Given the description of an element on the screen output the (x, y) to click on. 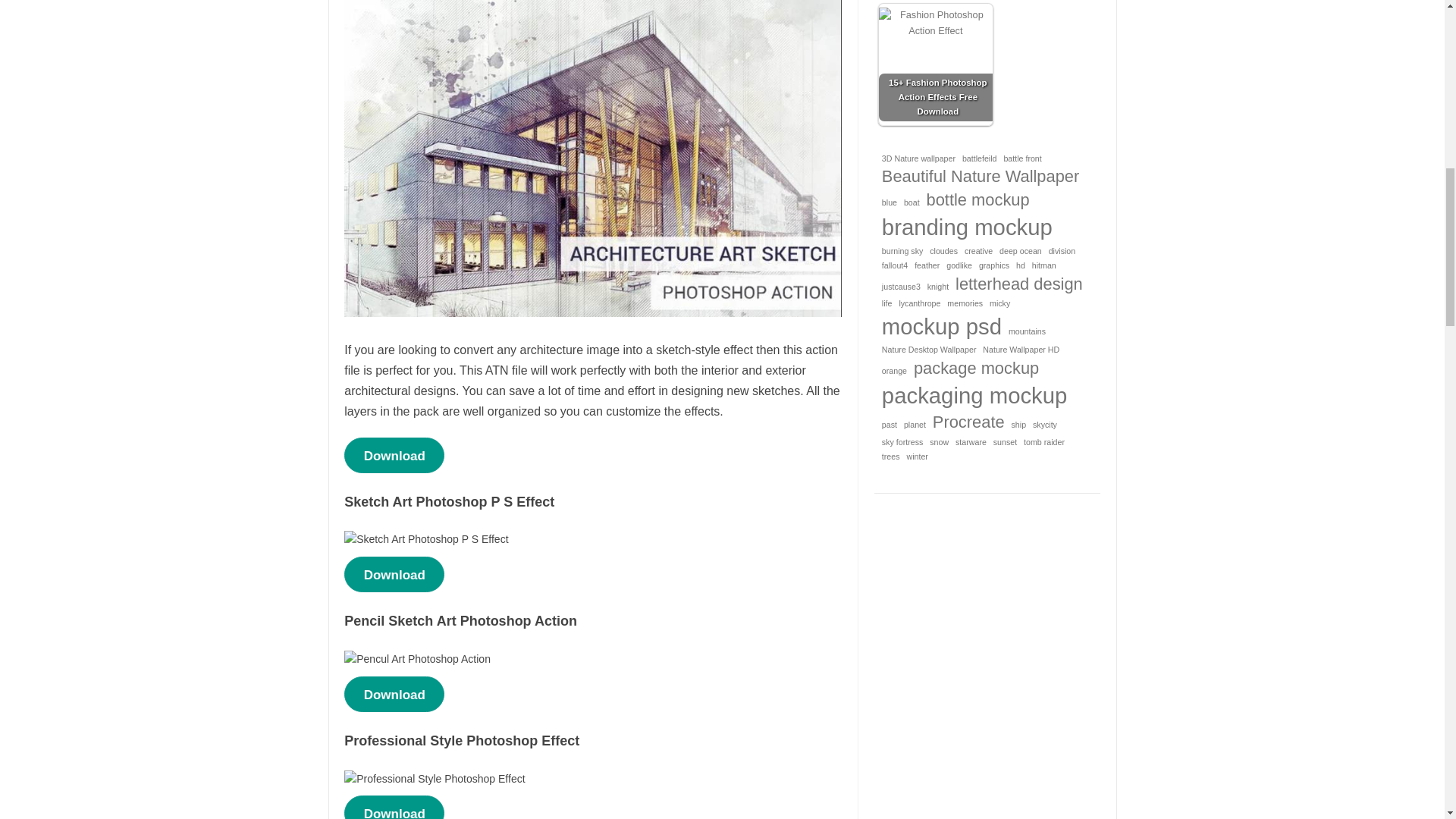
Download (393, 574)
Download (393, 455)
Download (393, 693)
Download (393, 807)
